Given the description of an element on the screen output the (x, y) to click on. 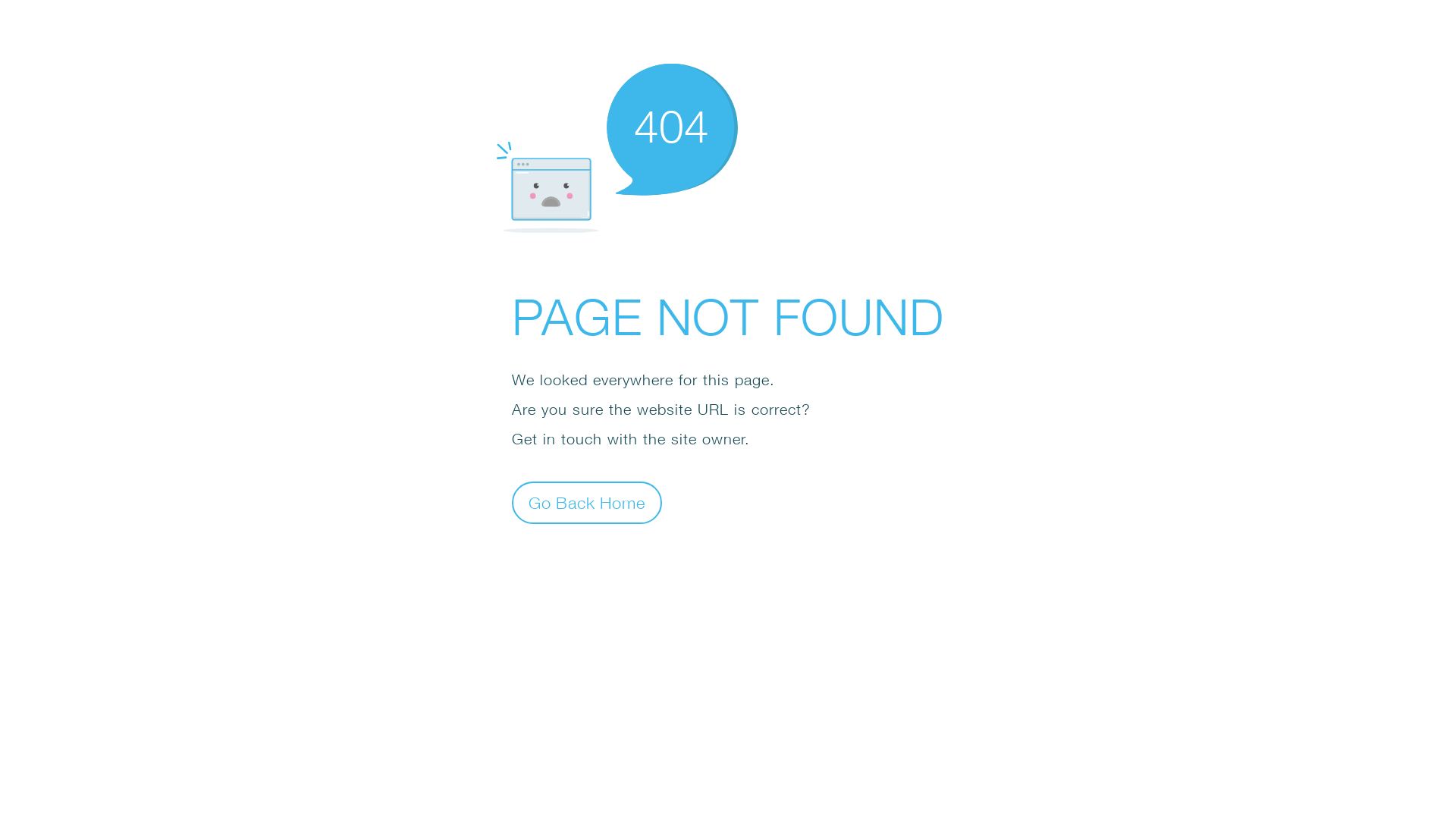
Go Back Home Element type: text (586, 502)
